Given the description of an element on the screen output the (x, y) to click on. 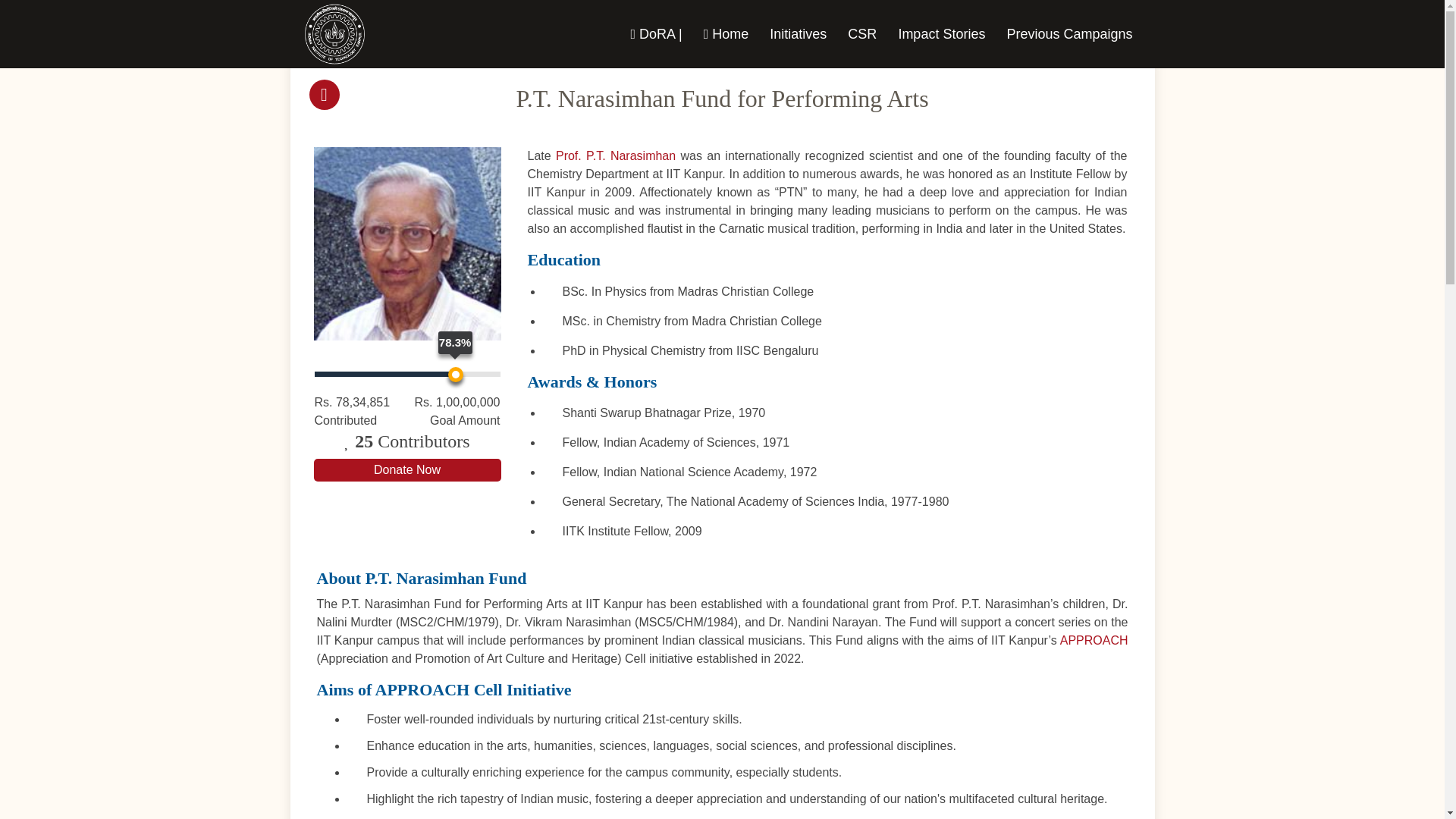
 Home (726, 33)
Prof. P.T. Narasimhan (615, 155)
CSR (861, 33)
Initiatives (797, 33)
Impact Stories (940, 33)
APPROACH (1093, 640)
Donate Now (407, 469)
Previous Campaigns (1068, 33)
